Given the description of an element on the screen output the (x, y) to click on. 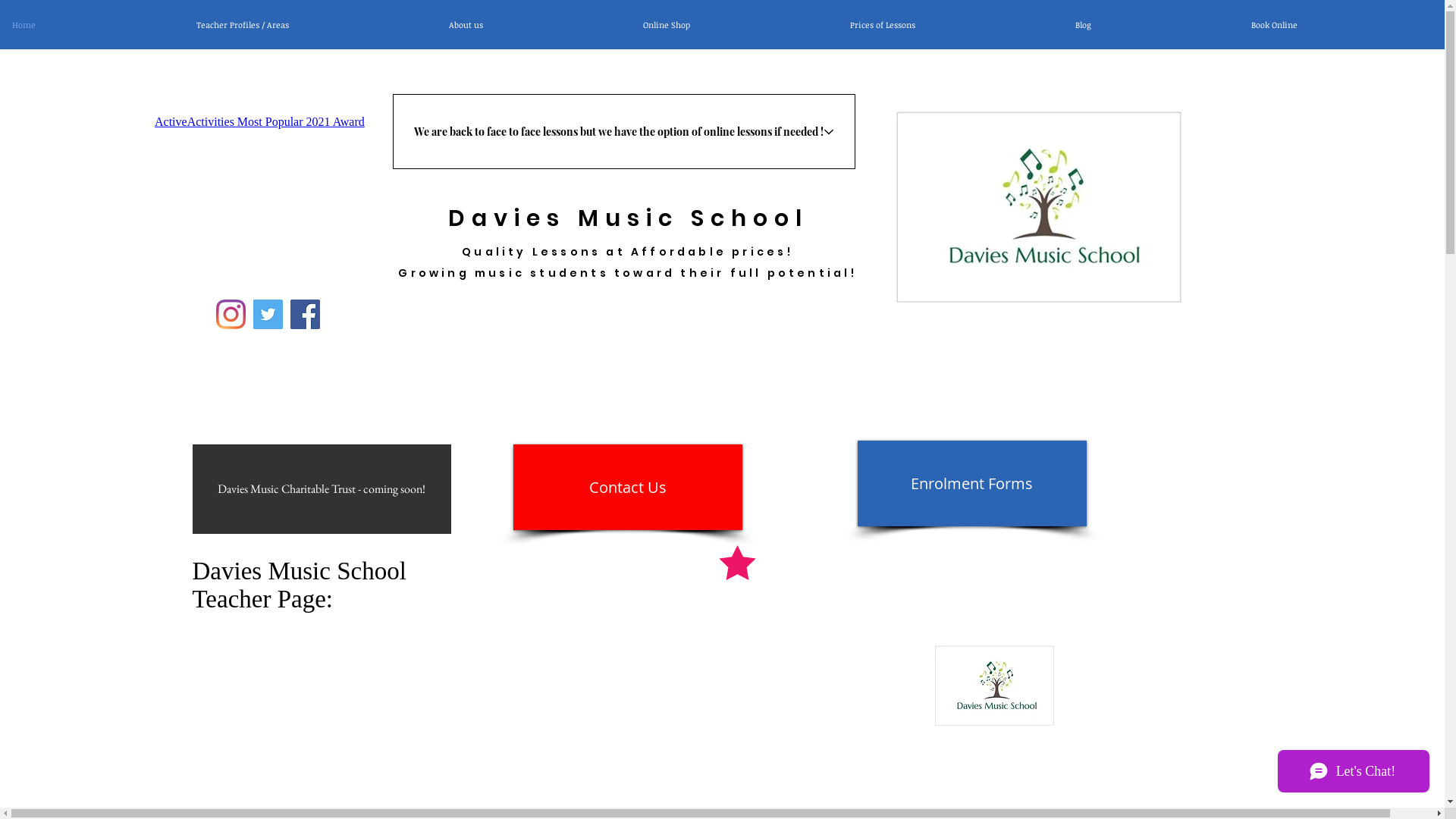
Davies Music Charitable Trust - coming soon! Element type: text (321, 488)
Online Shop Element type: text (733, 24)
Daviesmusicschool20161.jpg Element type: hover (1037, 206)
Prices of Lessons Element type: text (949, 24)
Contact Us Element type: text (626, 487)
About us Element type: text (533, 24)
Wix Chat Element type: hover (1357, 774)
TWIPLA (Visitor Analytics) Element type: hover (1442, 4)
Book Online Element type: text (1341, 24)
Blog Element type: text (1150, 24)
Embedded Content Element type: hover (299, 209)
Teacher Profiles / Areas Element type: text (309, 24)
Home Element type: text (91, 24)
Enrolment Forms Element type: text (970, 483)
